Given the description of an element on the screen output the (x, y) to click on. 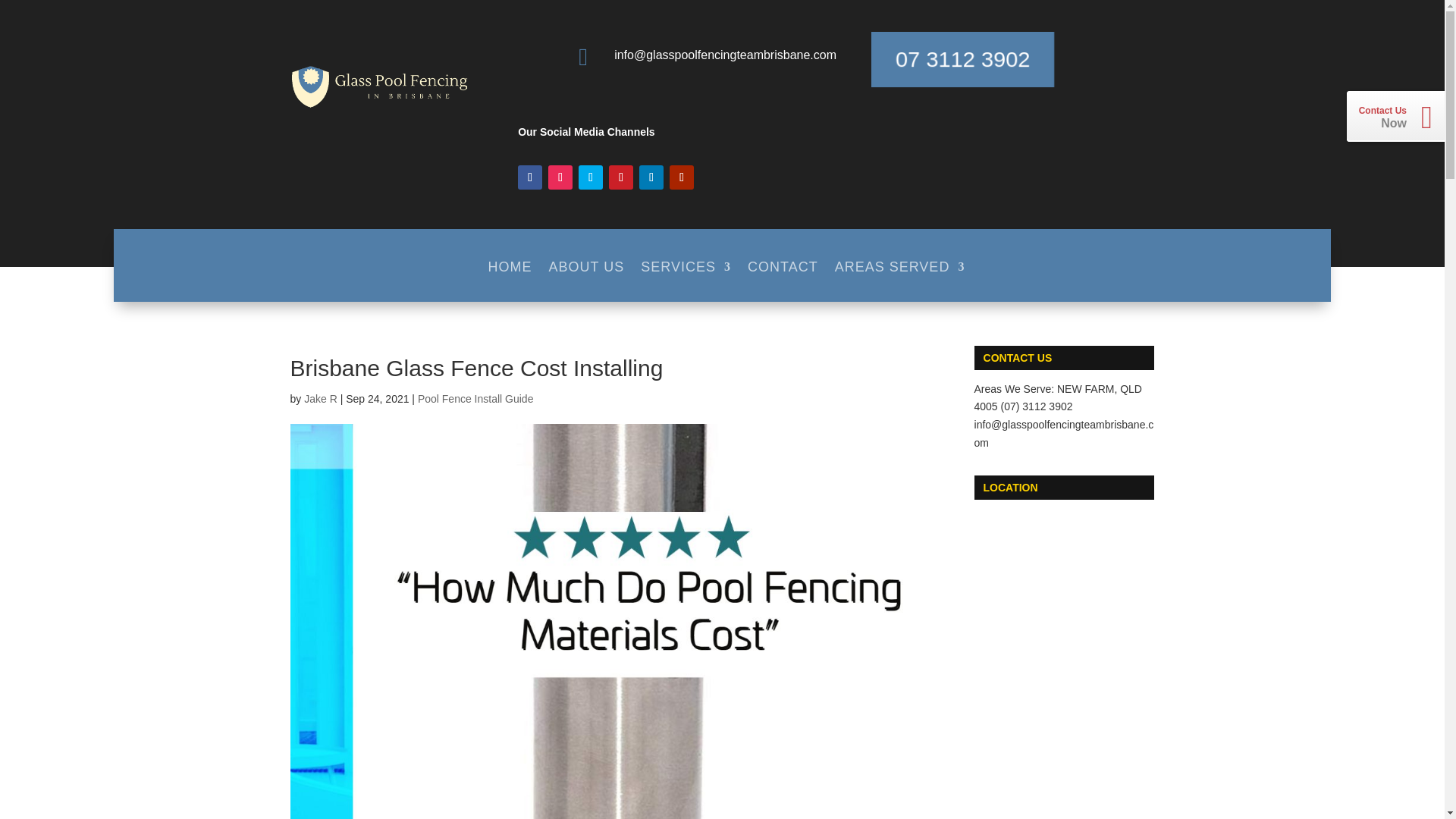
Follow on Pinterest (620, 177)
Posts by Jake R (320, 398)
Follow on Twitter (590, 177)
Follow on Youtube (681, 177)
Follow on LinkedIn (651, 177)
Follow on Facebook (529, 177)
Follow on Instagram (560, 177)
